Given the description of an element on the screen output the (x, y) to click on. 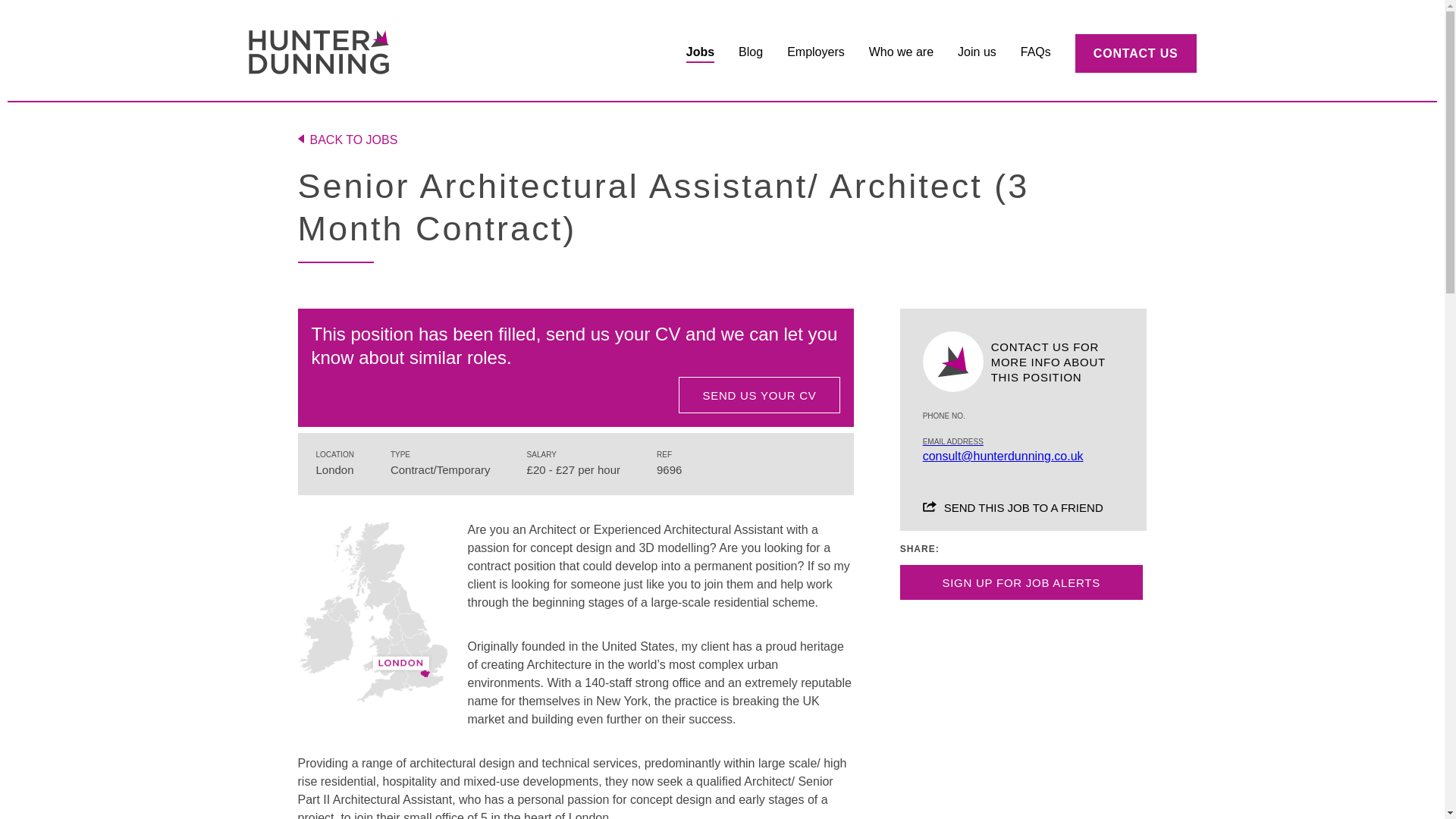
SIGN UP FOR JOB ALERTS (1020, 582)
Who we are (901, 53)
BACK TO JOBS (722, 139)
SEND US YOUR CV (759, 394)
CONTACT US (1135, 53)
EMAIL ADDRESS (1003, 450)
Employers (815, 53)
Join us (976, 53)
Jobs (699, 53)
FAQs (1035, 53)
